Given the description of an element on the screen output the (x, y) to click on. 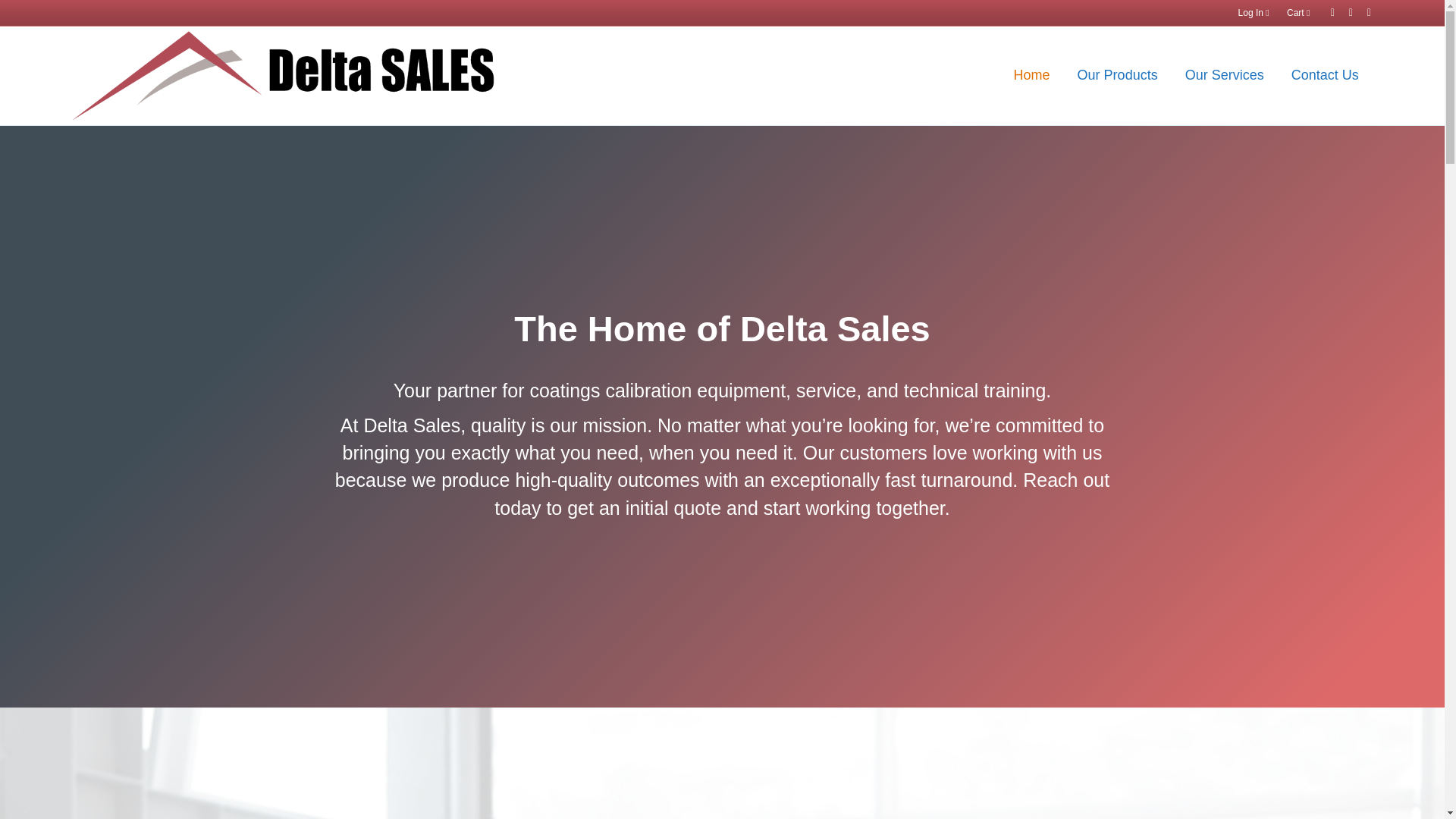
Our Products (1118, 75)
Linkedin (1343, 11)
Cart (1298, 13)
Our Services (1225, 75)
Contact Us (1325, 75)
Youtube (1361, 11)
Facebook (1325, 11)
Home (1032, 75)
Log In (1253, 13)
